Given the description of an element on the screen output the (x, y) to click on. 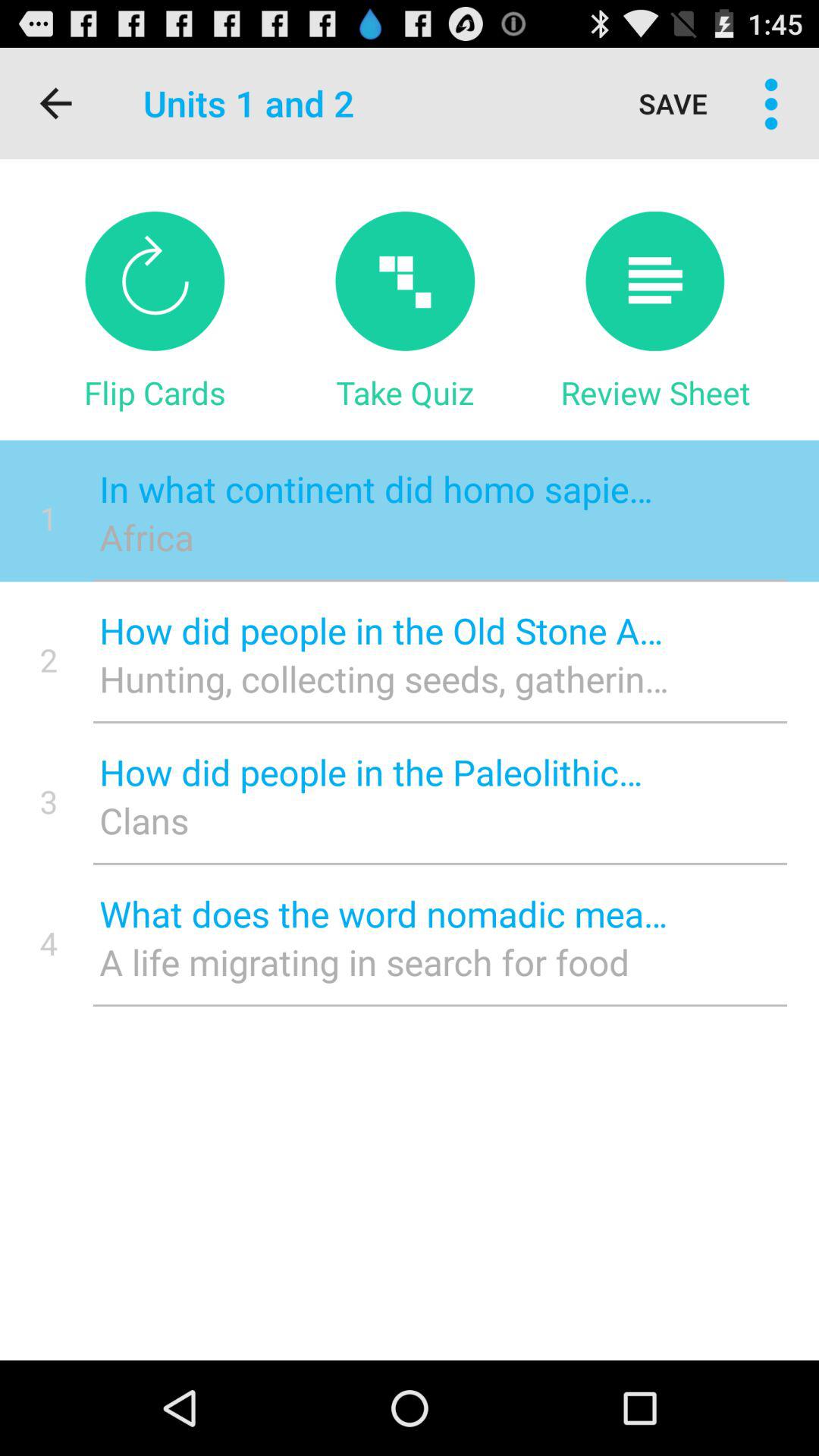
take quiz (404, 280)
